Given the description of an element on the screen output the (x, y) to click on. 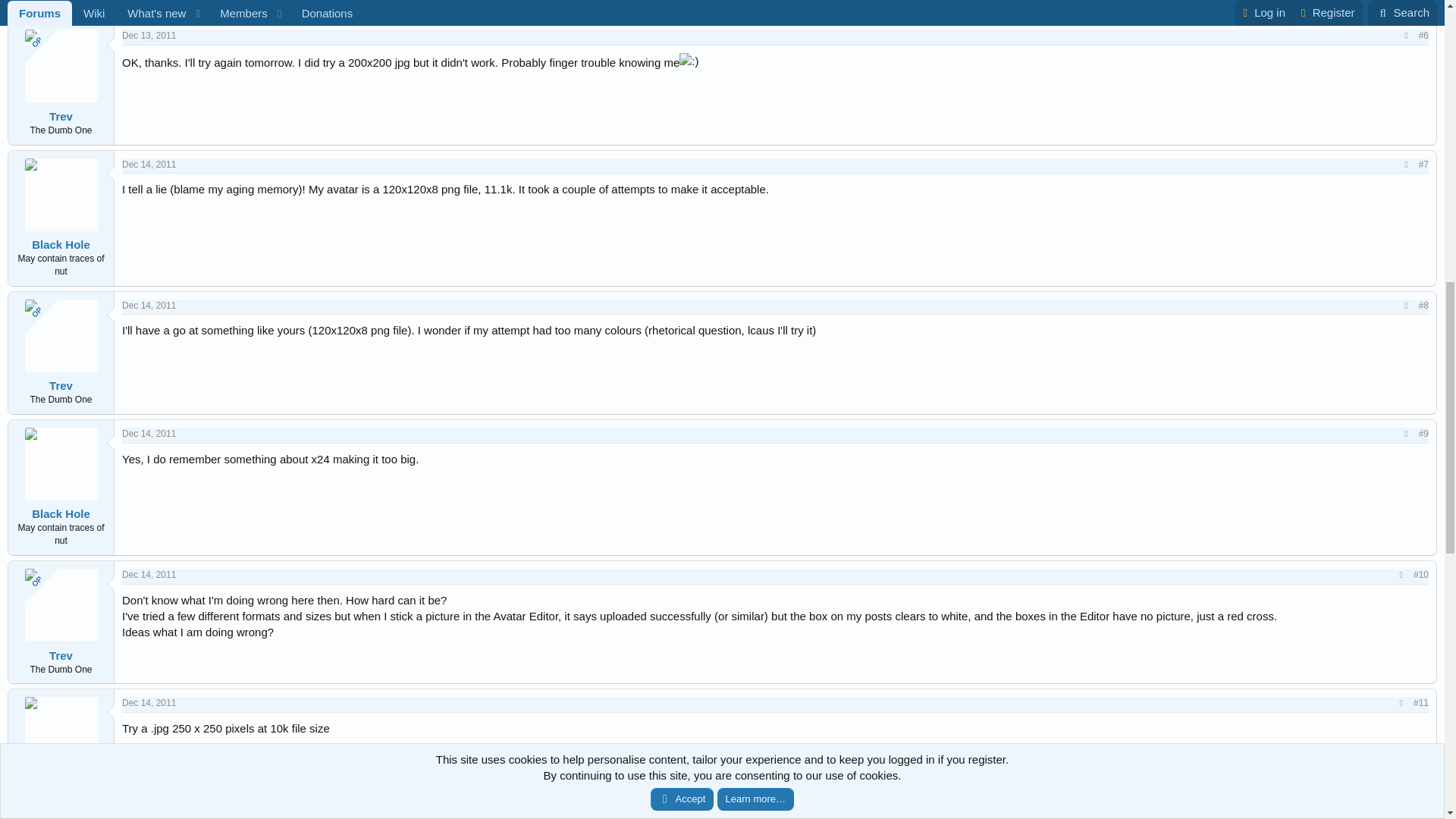
Dec 13, 2011 at 11:20 PM (149, 35)
Dec 14, 2011 at 8:08 AM (149, 163)
Dec 14, 2011 at 3:51 PM (149, 702)
Dec 14, 2011 at 3:17 PM (149, 574)
Dec 14, 2011 at 9:47 AM (149, 305)
Dec 14, 2011 at 1:20 PM (149, 433)
